Given the description of an element on the screen output the (x, y) to click on. 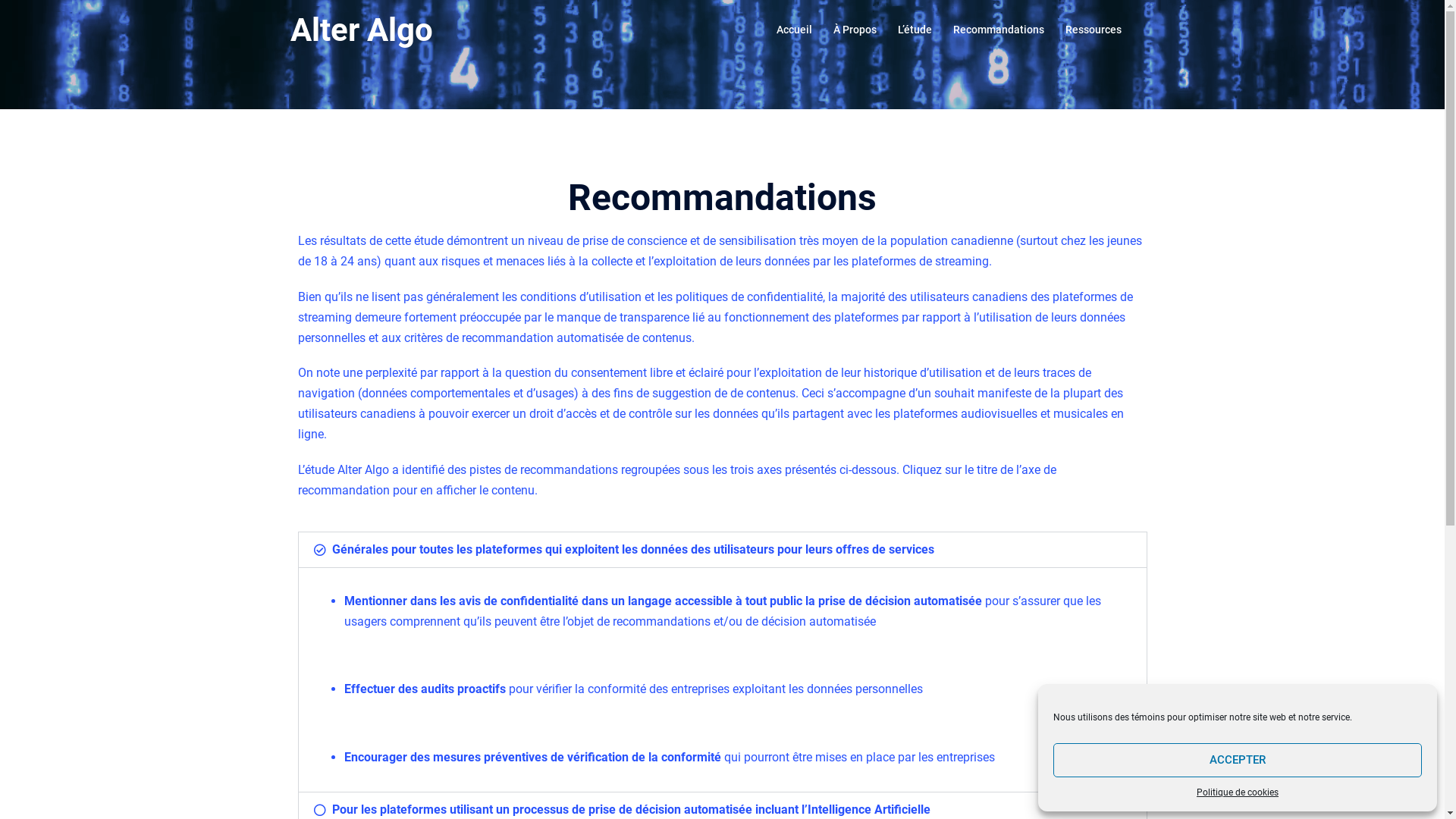
Politique de cookies Element type: text (1237, 792)
Ressources Element type: text (1092, 30)
Accueil Element type: text (794, 30)
Recommandations Element type: text (997, 30)
Alter Algo Element type: text (360, 29)
ACCEPTER Element type: text (1237, 760)
